Given the description of an element on the screen output the (x, y) to click on. 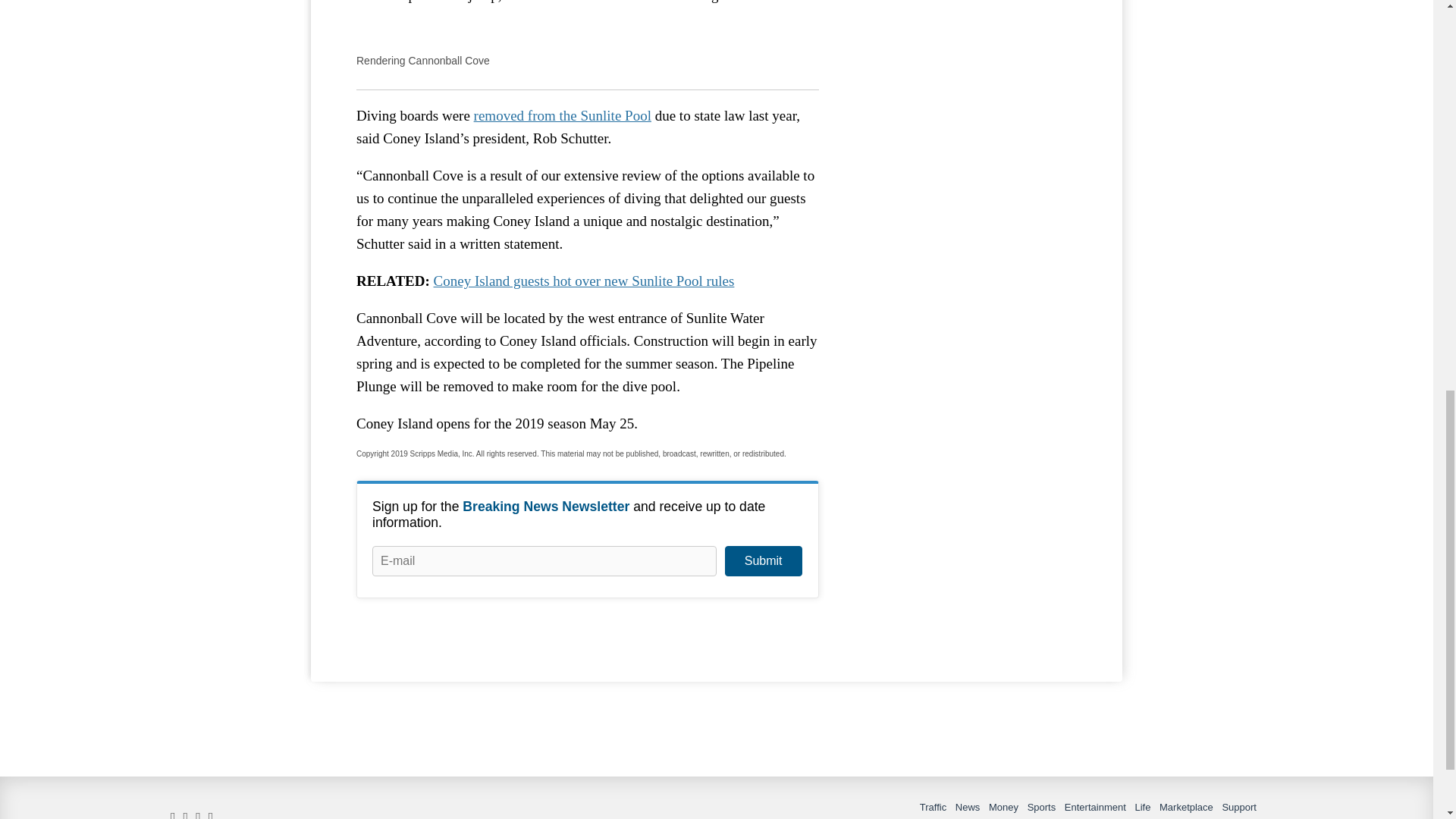
Submit (763, 561)
